Given the description of an element on the screen output the (x, y) to click on. 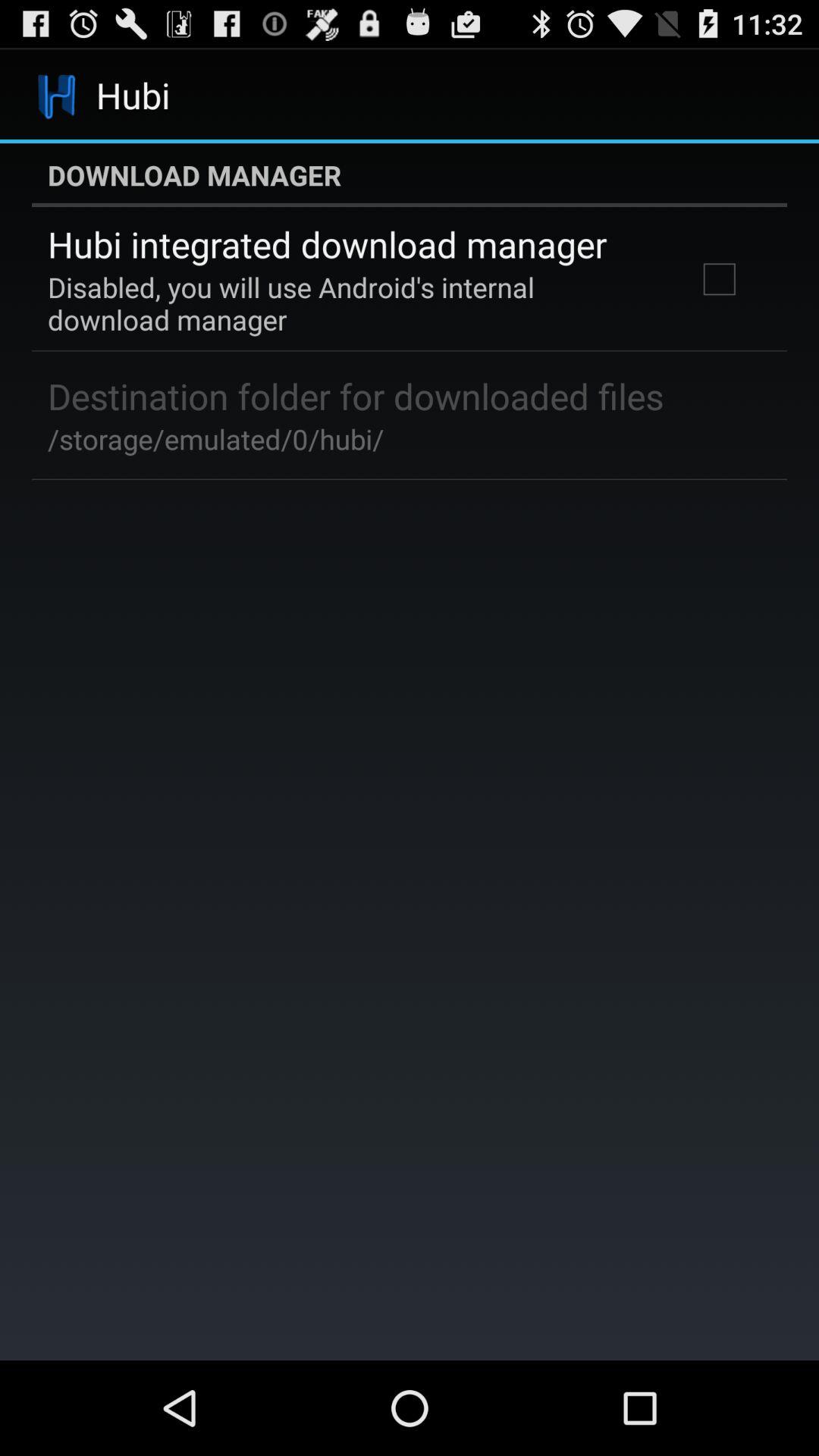
turn off the item above the destination folder for (351, 303)
